Given the description of an element on the screen output the (x, y) to click on. 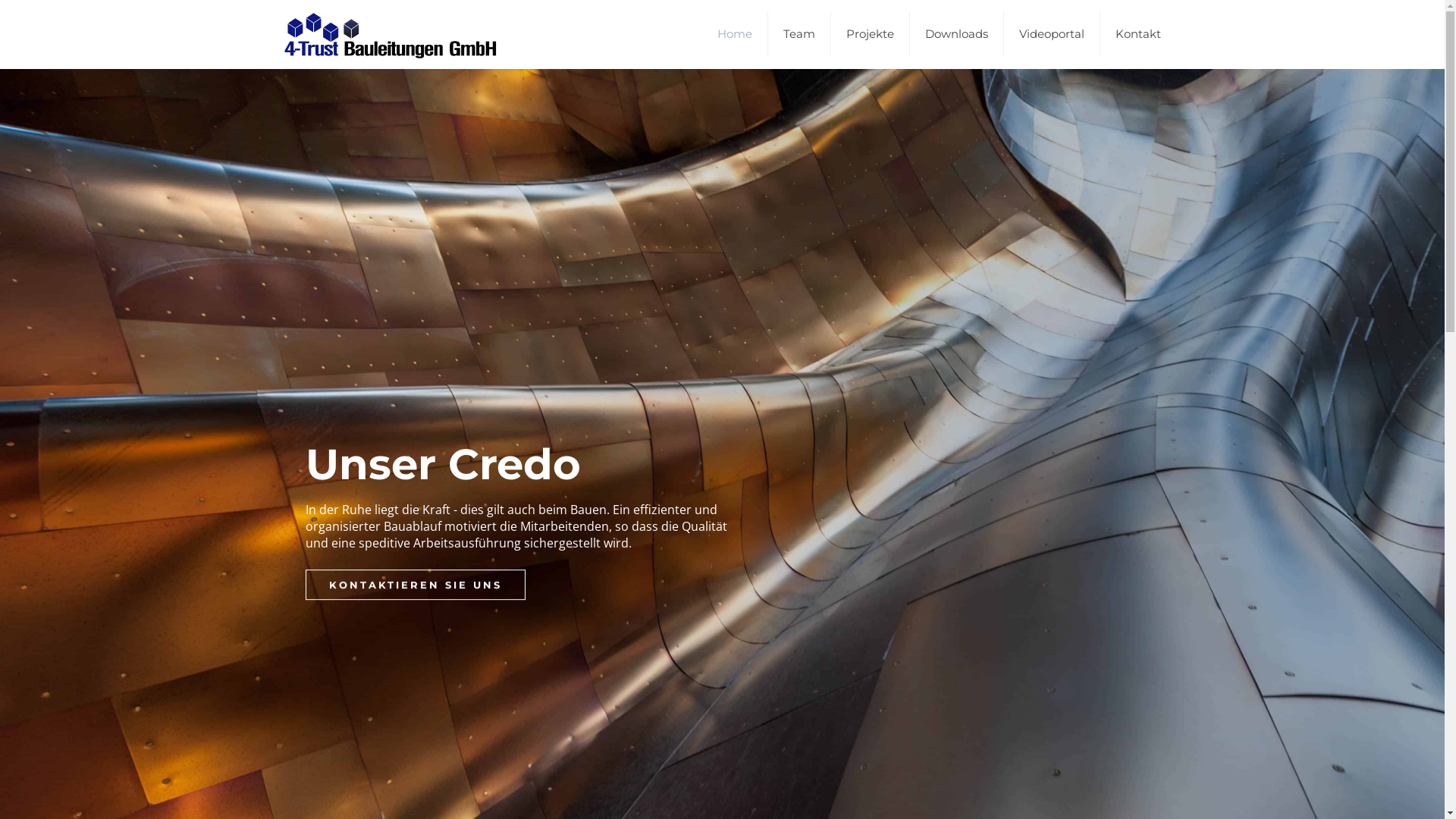
Kontakt Element type: text (1137, 34)
Home Element type: text (735, 34)
Videoportal Element type: text (1052, 34)
Projekte Element type: text (870, 34)
Team Element type: text (798, 34)
Downloads Element type: text (957, 34)
4-Trust Bauleitungen GmbH Element type: hover (390, 34)
